Given the description of an element on the screen output the (x, y) to click on. 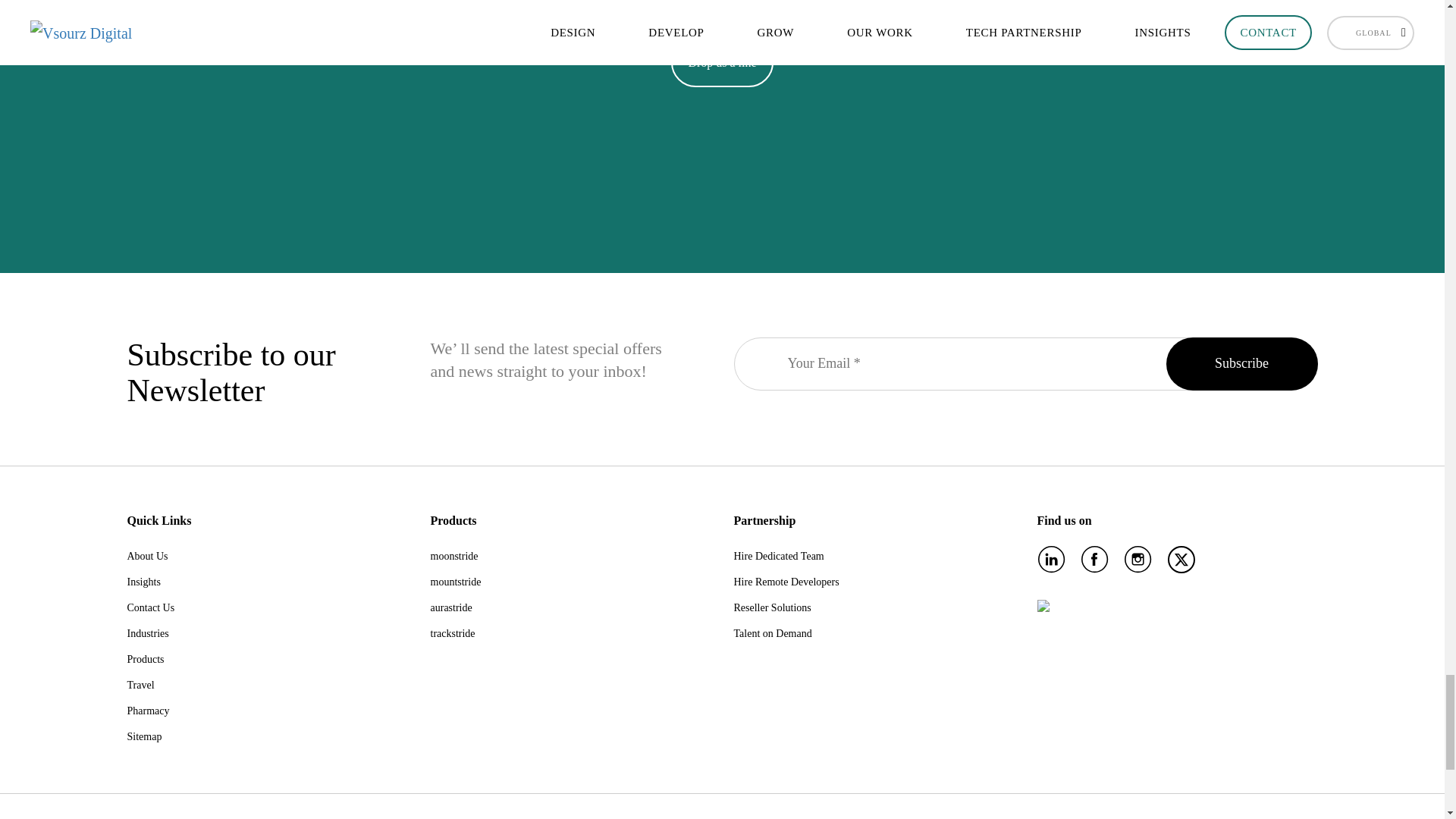
Drop us a line (722, 61)
Your Email (1025, 363)
facebook (1094, 559)
linkedin (1050, 559)
instagram (1137, 559)
Subscribe (1241, 363)
twitter (1176, 564)
